Given the description of an element on the screen output the (x, y) to click on. 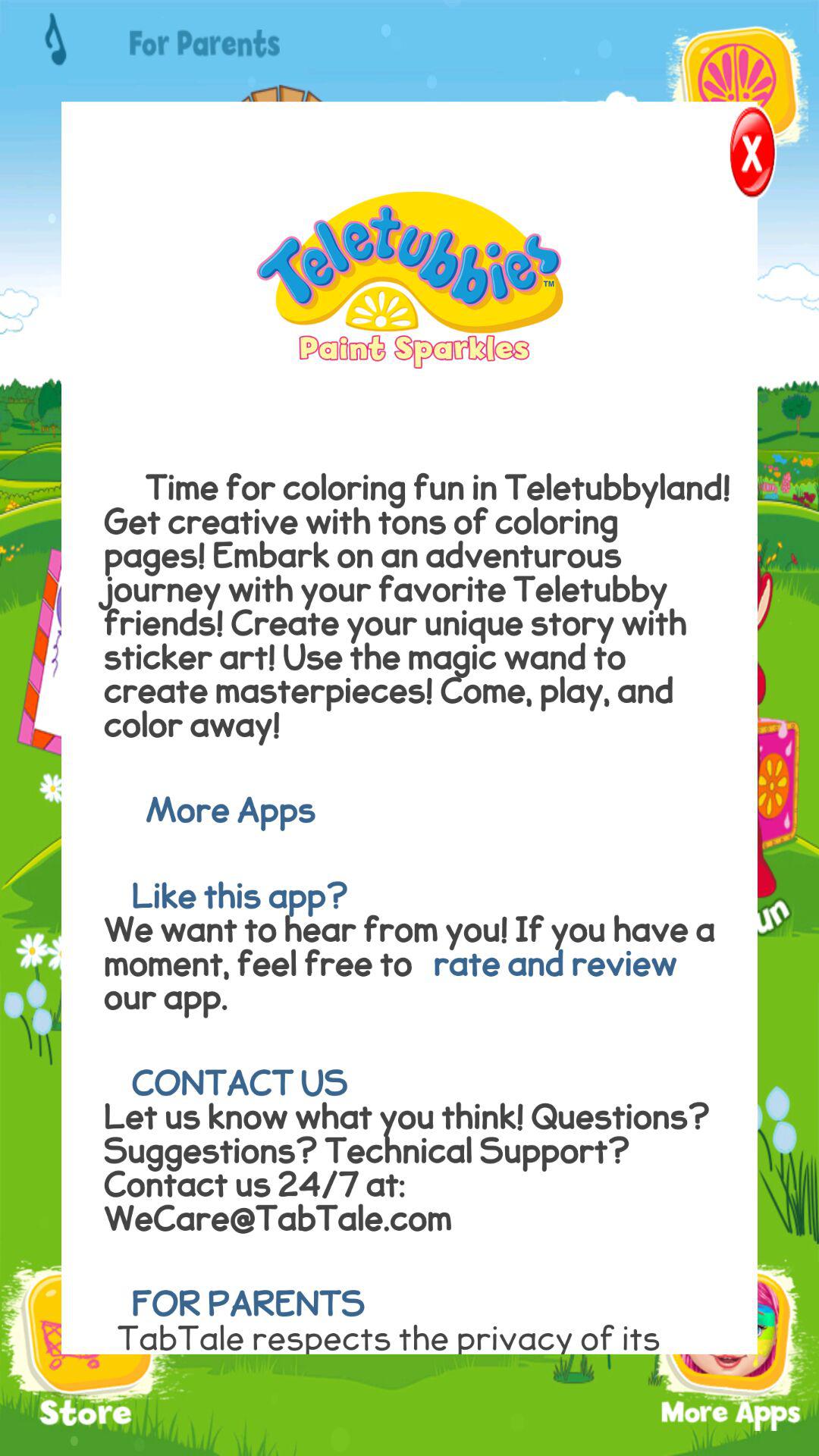
close (729, 156)
